Given the description of an element on the screen output the (x, y) to click on. 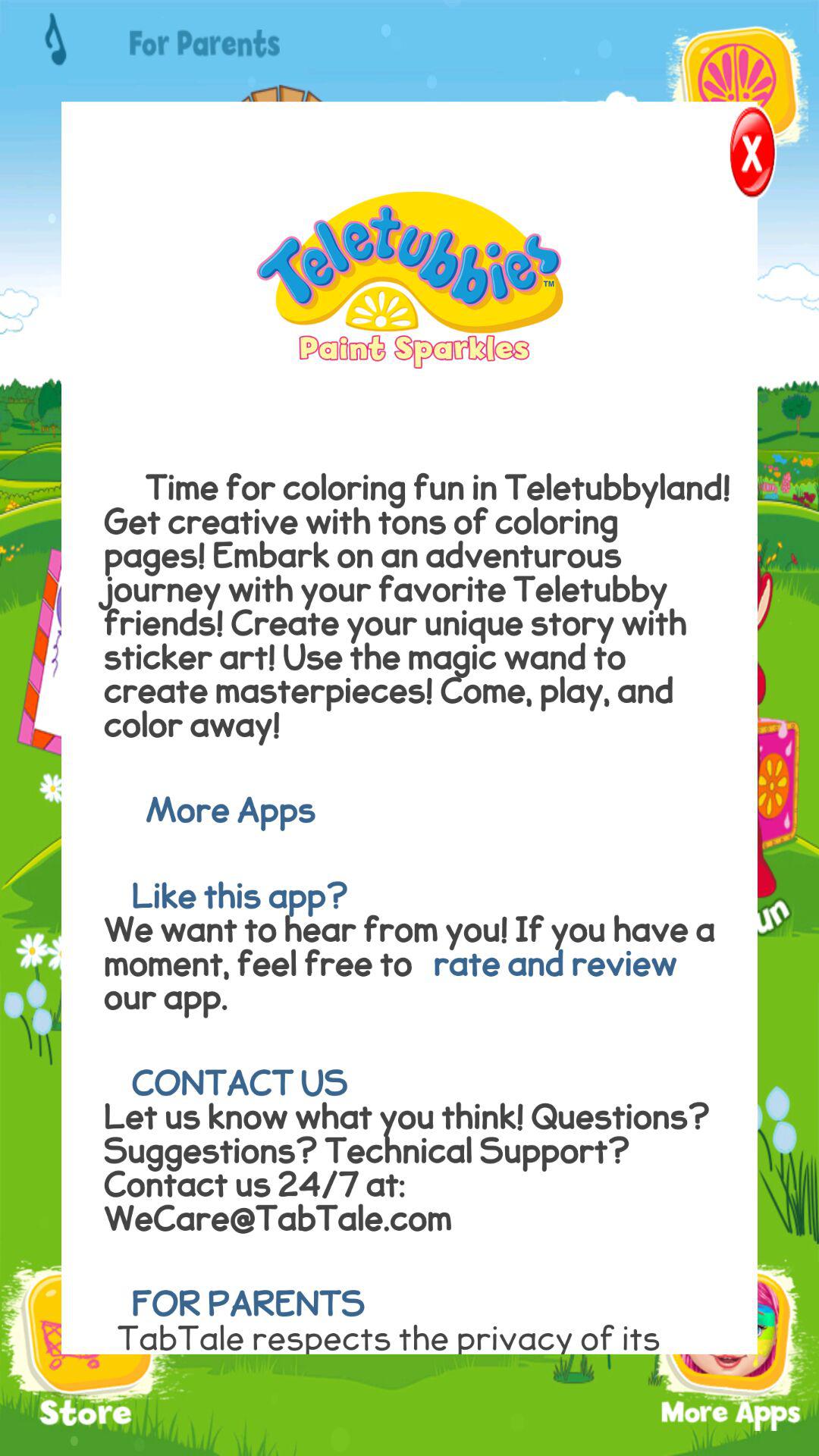
close (729, 156)
